Given the description of an element on the screen output the (x, y) to click on. 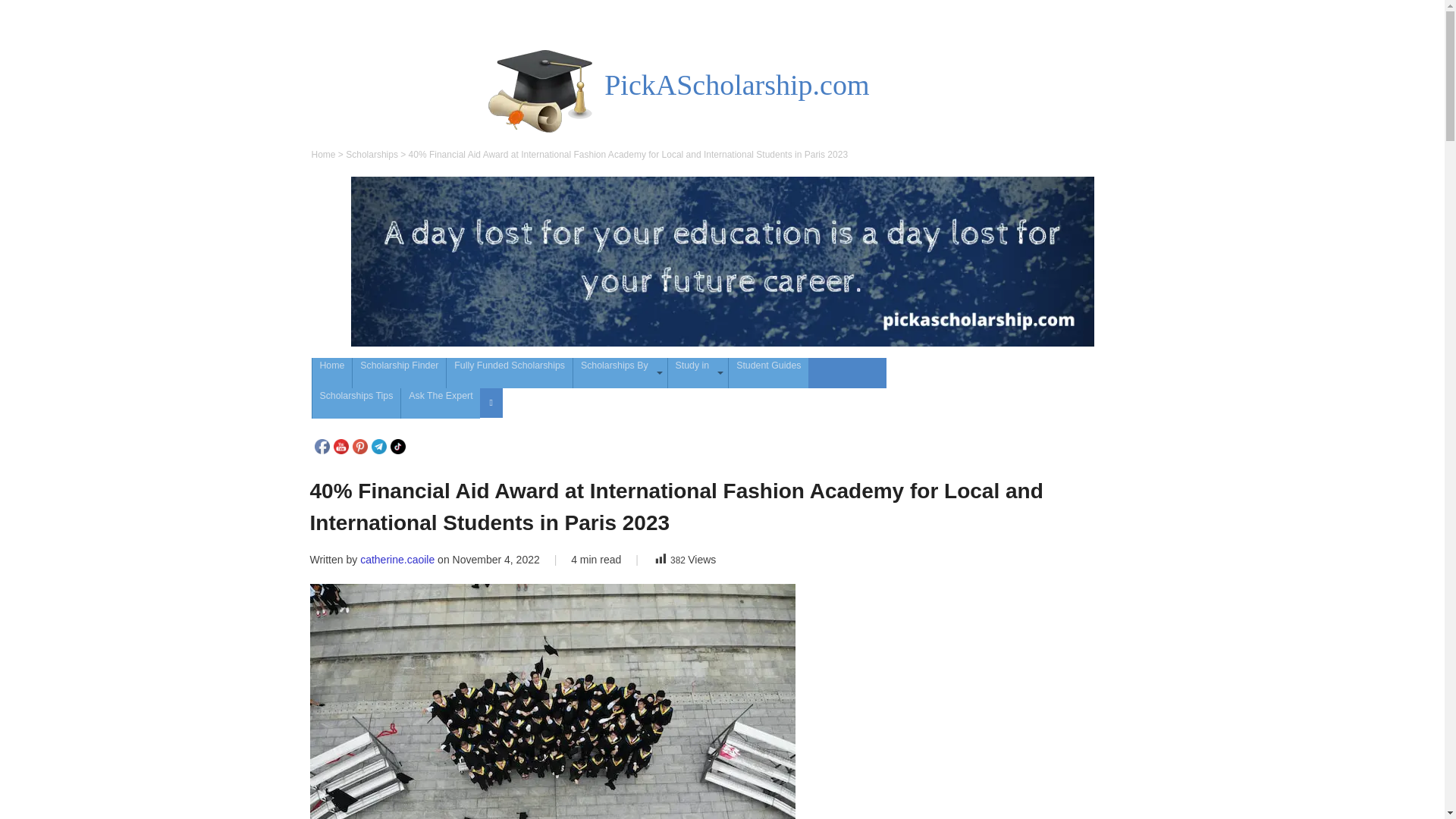
Tiktok (397, 446)
Go to PickAScholarship.com. (322, 154)
Home (322, 154)
Facebook (321, 446)
Pinterest (359, 446)
Home (332, 372)
YouTube (341, 446)
Scholarship Finder (398, 372)
Scholarships (371, 154)
Telegram (379, 446)
